Given the description of an element on the screen output the (x, y) to click on. 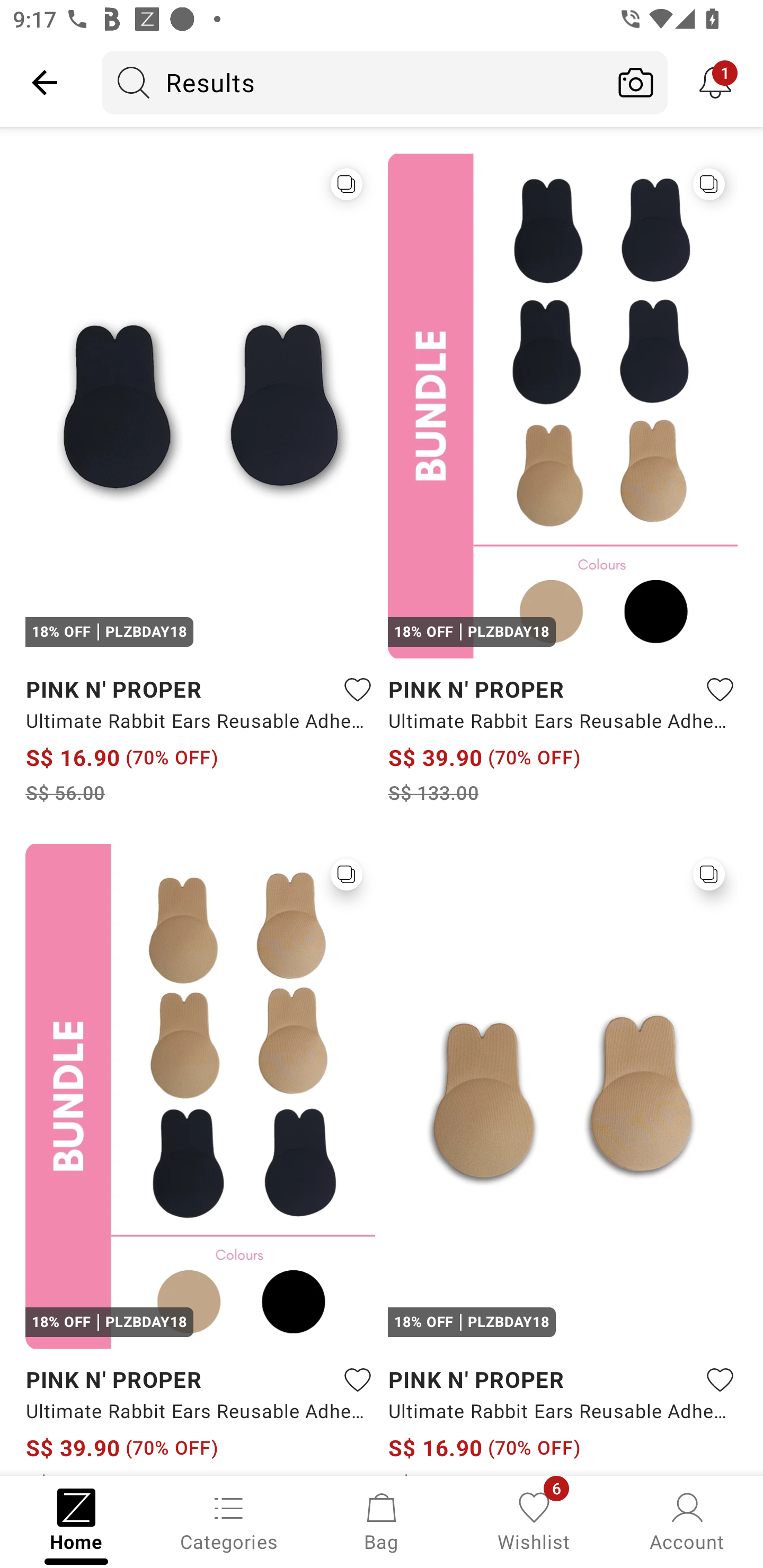
Navigate up (44, 82)
Results (352, 82)
Categories (228, 1519)
Bag (381, 1519)
Wishlist, 6 new notifications Wishlist (533, 1519)
Account (686, 1519)
